Given the description of an element on the screen output the (x, y) to click on. 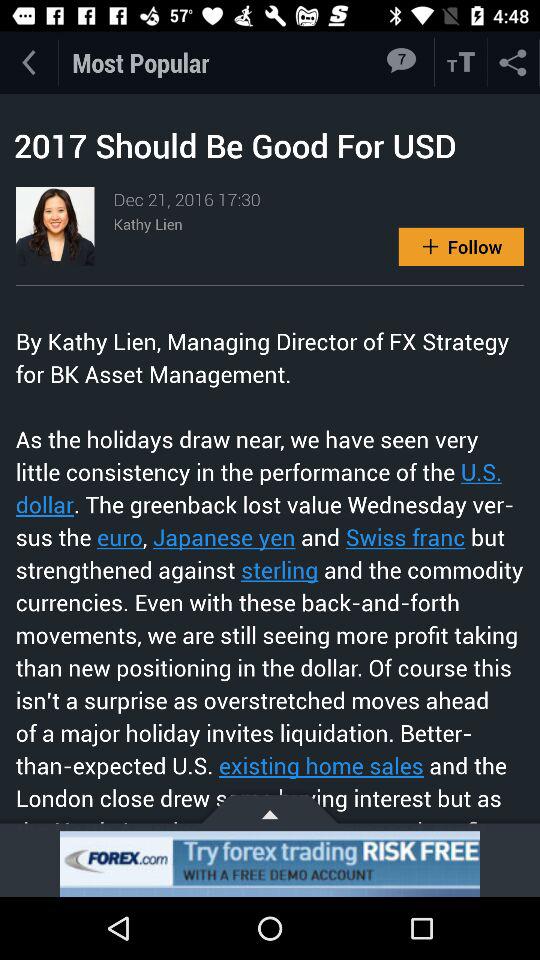
get demo account (270, 864)
